Given the description of an element on the screen output the (x, y) to click on. 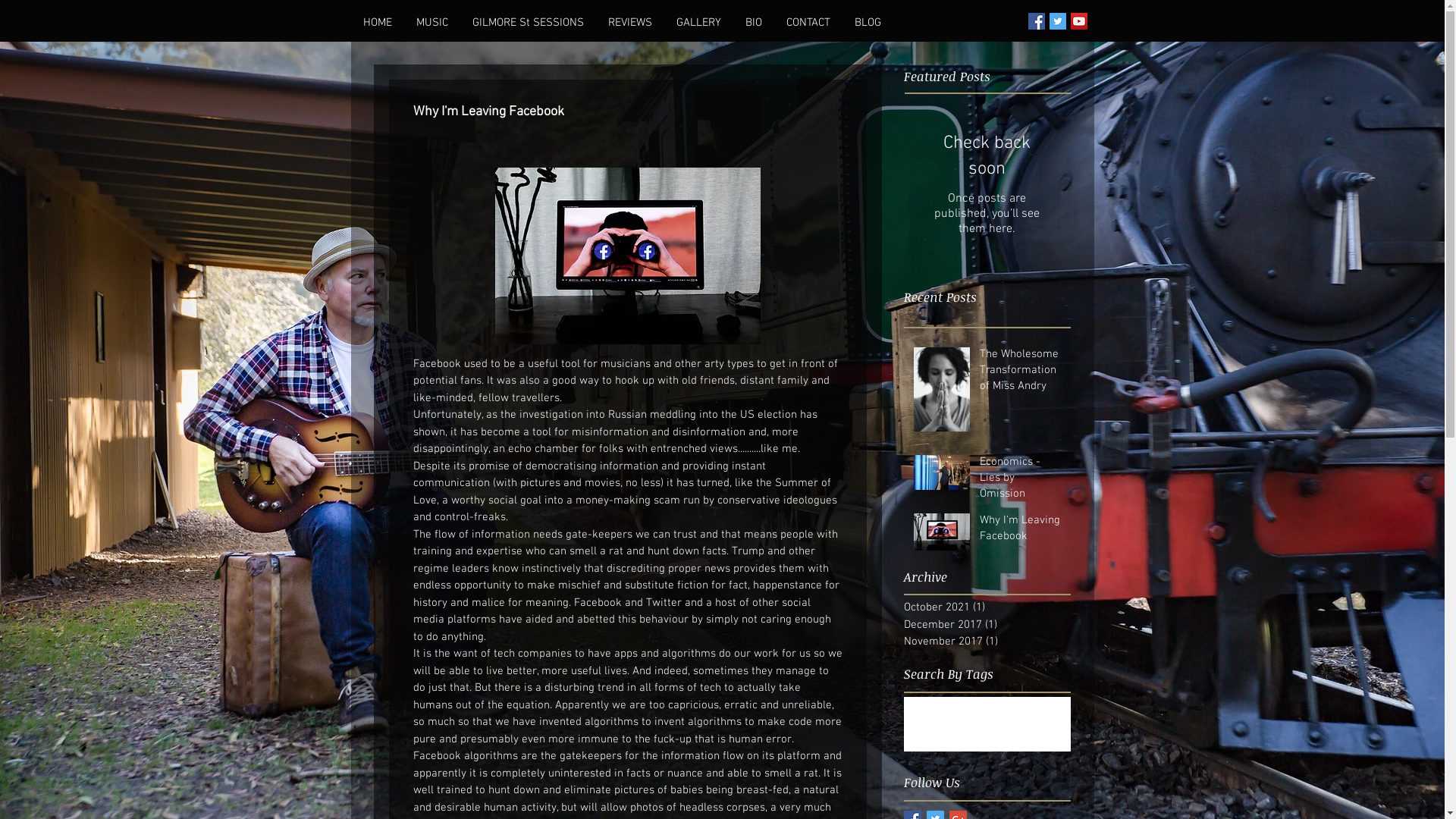
HOME Element type: text (376, 22)
MUSIC Element type: text (431, 22)
BLOG Element type: text (866, 22)
Why I'm Leaving Facebook Element type: text (1020, 531)
BIO Element type: text (752, 22)
December 2017 (1) Element type: text (983, 624)
Economics - Lies by Omission Element type: text (1020, 481)
November 2017 (1) Element type: text (983, 641)
CONTACT Element type: text (807, 22)
October 2021 (1) Element type: text (983, 607)
GILMORE St SESSIONS Element type: text (527, 22)
REVIEWS Element type: text (630, 22)
GALLERY Element type: text (698, 22)
The Wholesome Transformation of Miss Andry Element type: text (1020, 373)
